Given the description of an element on the screen output the (x, y) to click on. 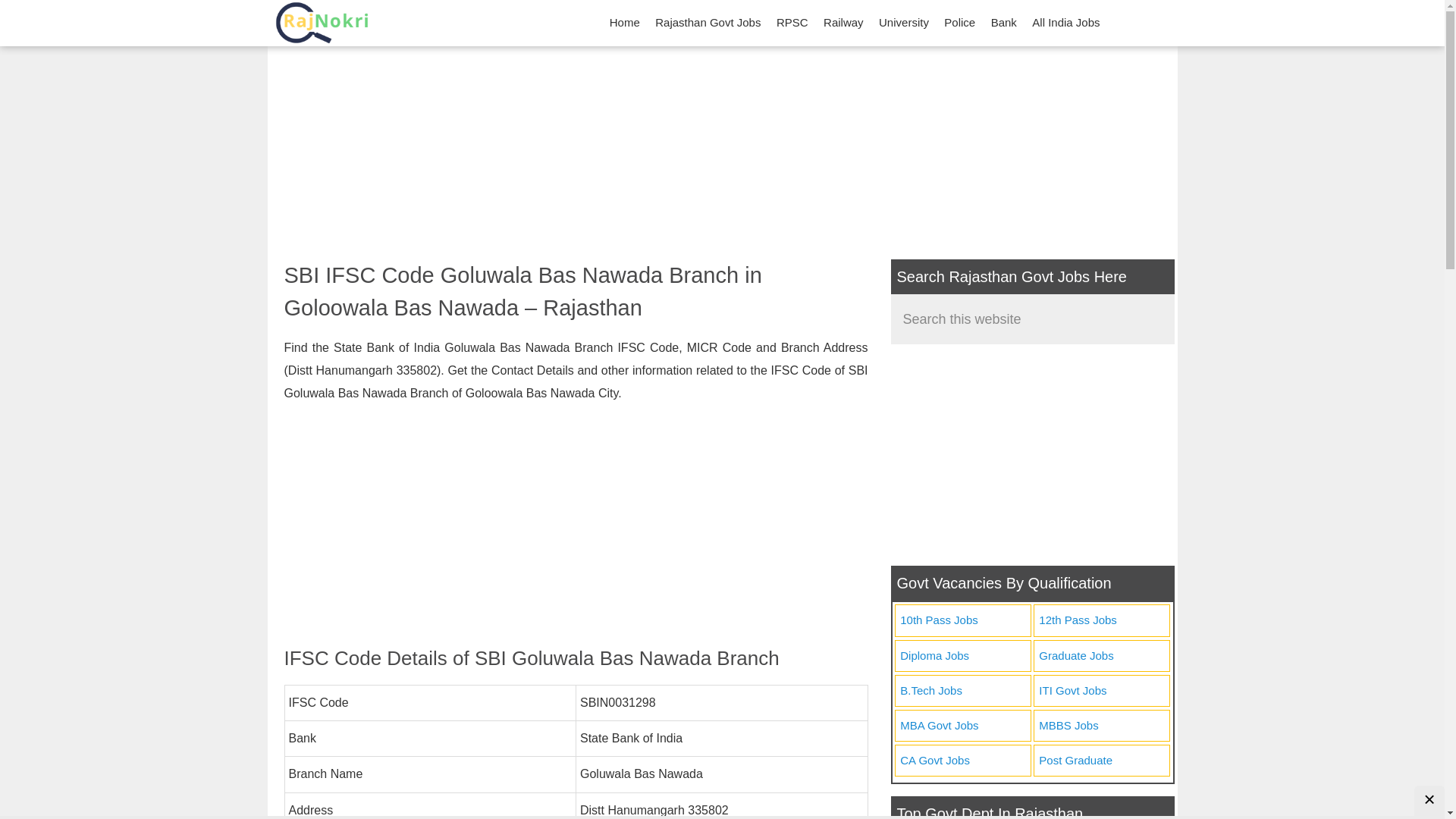
Advertisement (1031, 454)
Graduate Jobs (1101, 655)
Police (959, 22)
B.Tech Jobs (962, 690)
All India Jobs (1065, 22)
Rajasthan Sarkari Naukri (320, 22)
University (903, 22)
MBBS Jobs (1101, 726)
12th Pass Jobs (1101, 620)
Post Graduate (1101, 760)
